Given the description of an element on the screen output the (x, y) to click on. 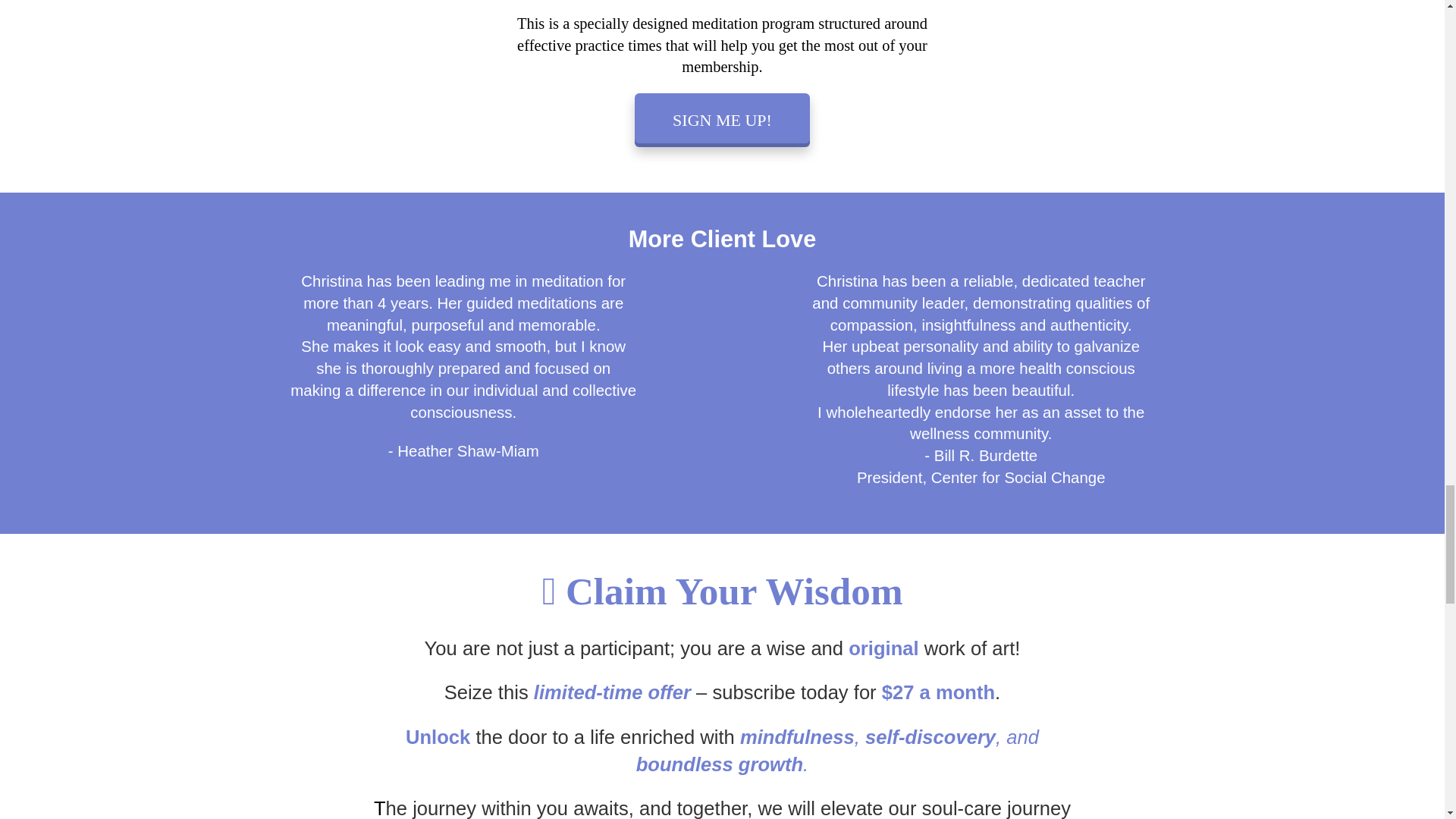
SIGN ME UP! (721, 120)
